Given the description of an element on the screen output the (x, y) to click on. 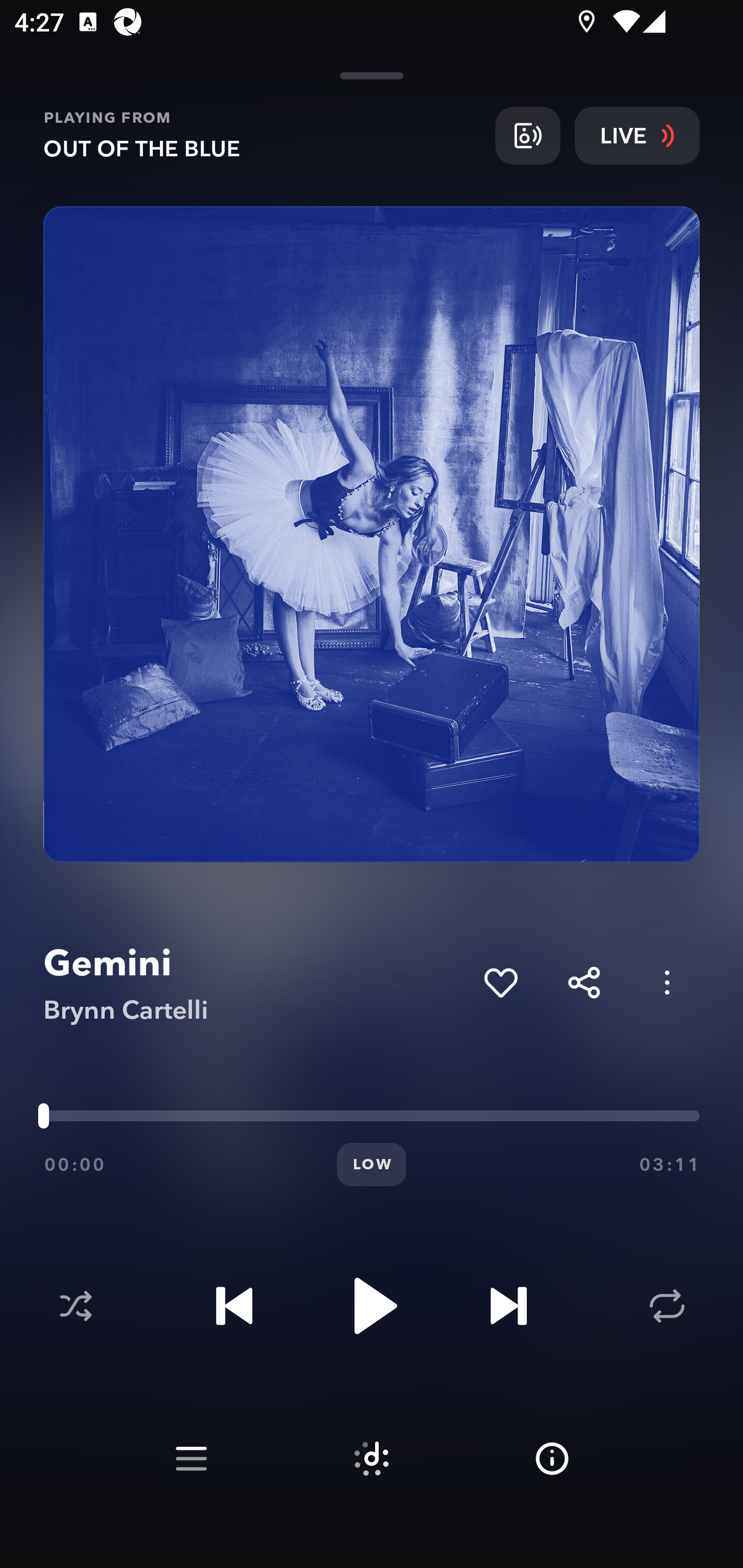
Broadcast (527, 135)
LIVE (637, 135)
PLAYING FROM OUT OF THE BLUE (261, 135)
Gemini Brynn Cartelli (255, 983)
Add to My Collection (500, 982)
Share (583, 982)
Options (666, 982)
LOW (371, 1164)
Play (371, 1306)
Previous (234, 1306)
Next (508, 1306)
Shuffle disabled (75, 1306)
Repeat Off (666, 1306)
Play queue (191, 1458)
Suggested tracks (371, 1458)
Info (551, 1458)
